Given the description of an element on the screen output the (x, y) to click on. 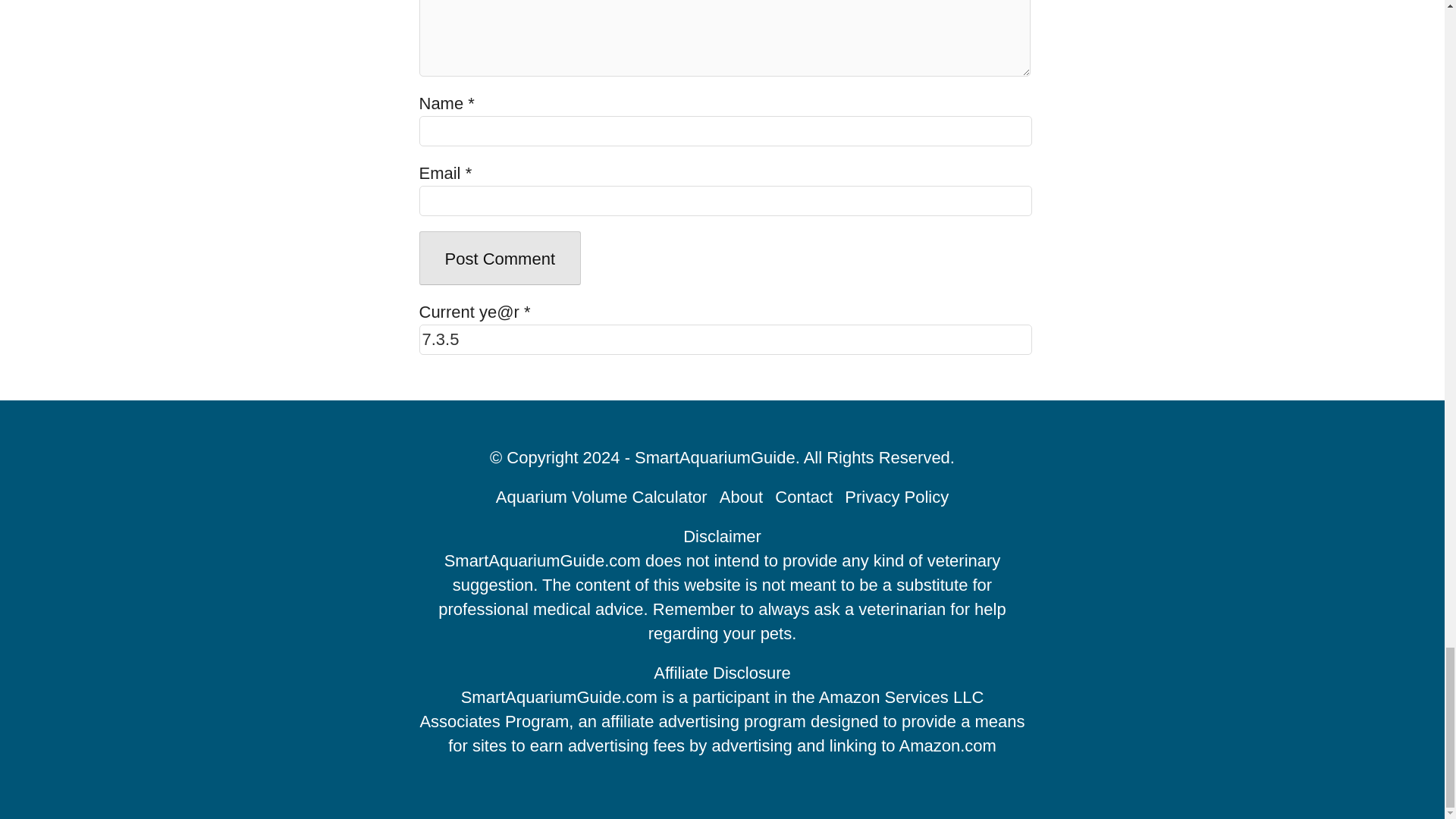
Post Comment (499, 257)
Post Comment (499, 257)
7.3.5 (724, 339)
Privacy Policy (896, 496)
About (740, 496)
Contact (803, 496)
Aquarium Volume Calculator (601, 496)
